Given the description of an element on the screen output the (x, y) to click on. 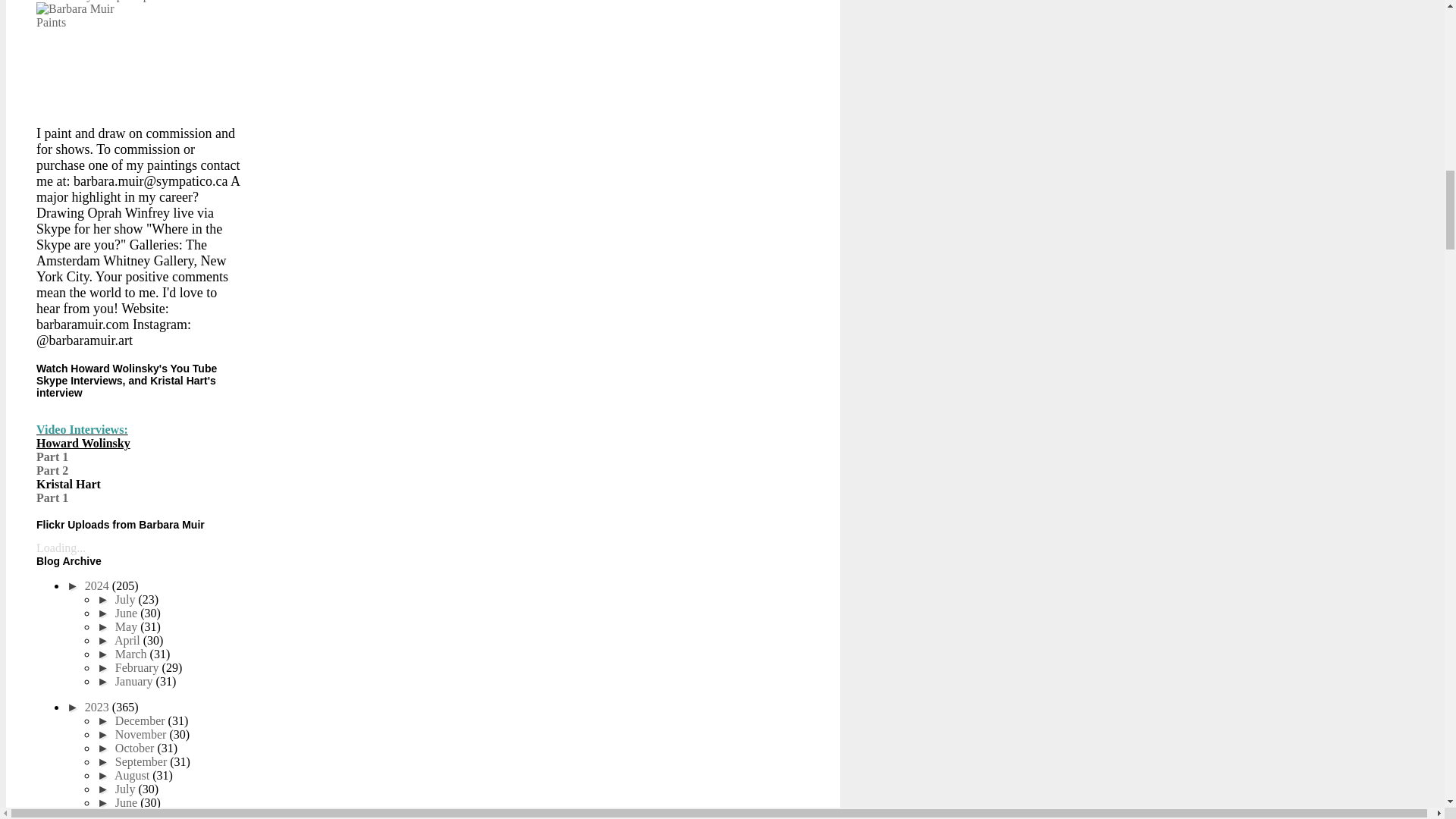
Part 2 (52, 470)
Part 1 (52, 456)
Loading... (60, 547)
View my complete profile (111, 0)
2024 (98, 585)
July (126, 599)
Part 1 (52, 497)
